Given the description of an element on the screen output the (x, y) to click on. 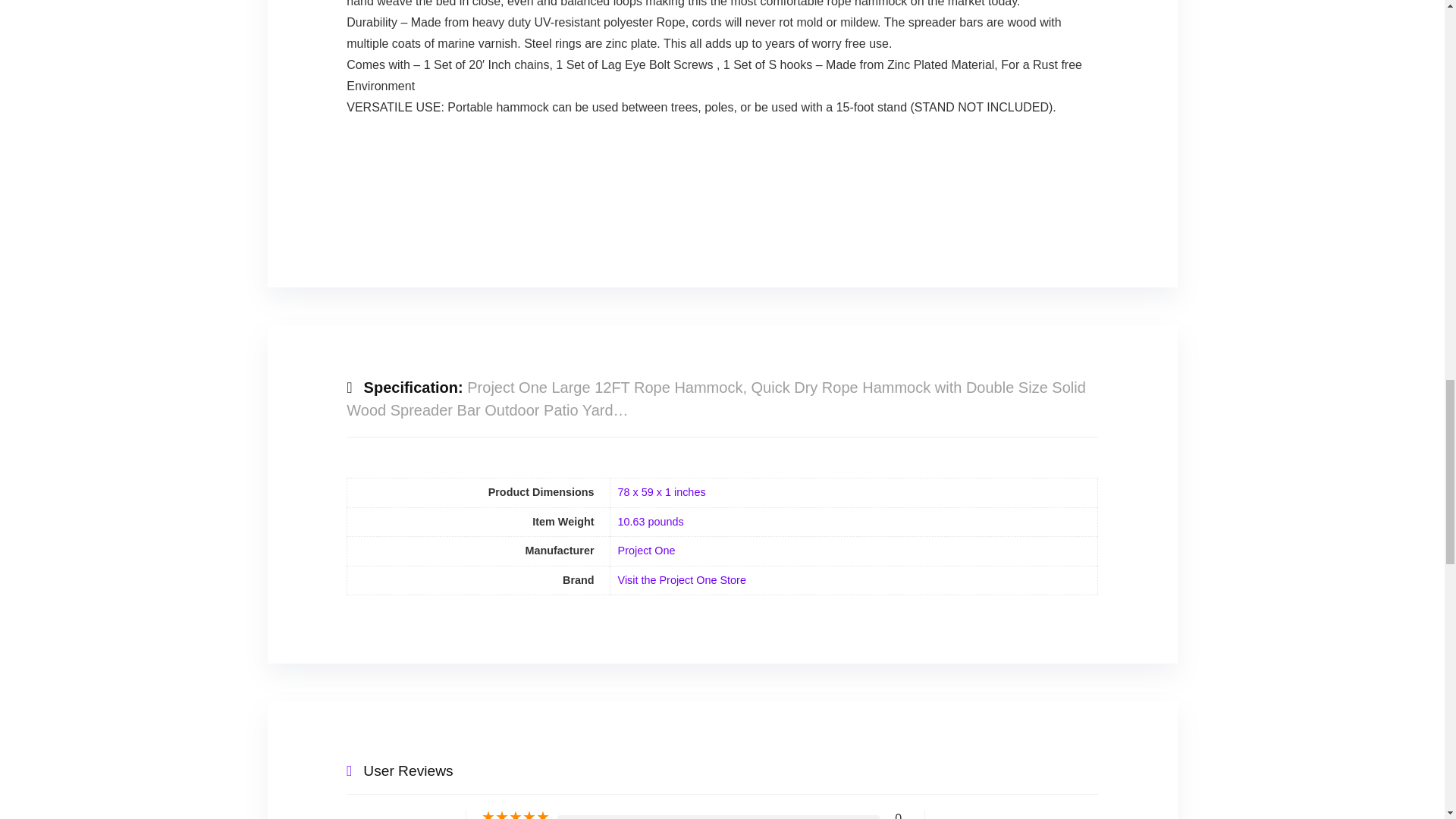
Rated 5 out of 5 (515, 814)
